Given the description of an element on the screen output the (x, y) to click on. 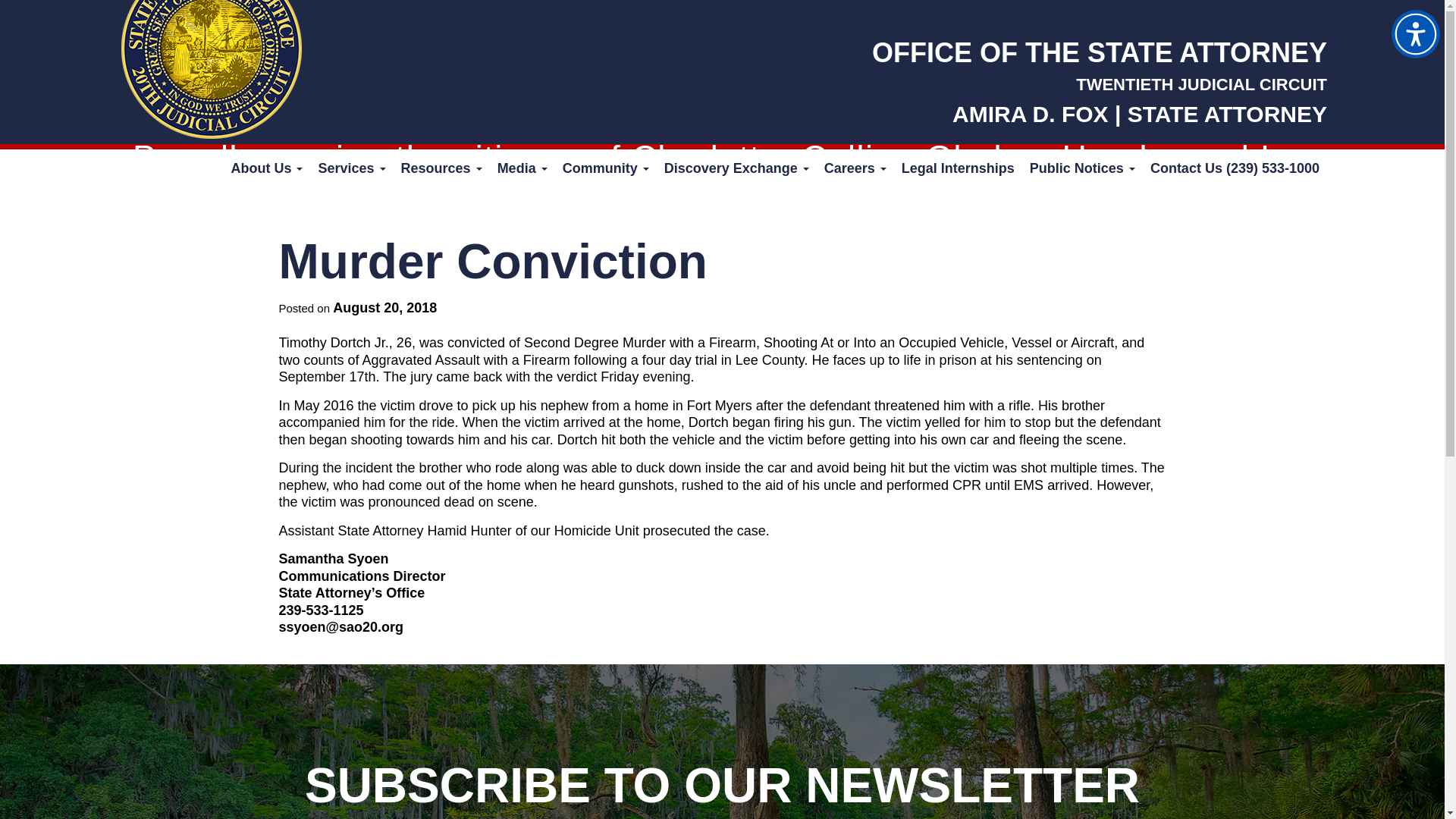
Resources (441, 168)
Services (351, 168)
Accessibility Menu (1415, 33)
About Us (266, 168)
About Us (266, 168)
